Given the description of an element on the screen output the (x, y) to click on. 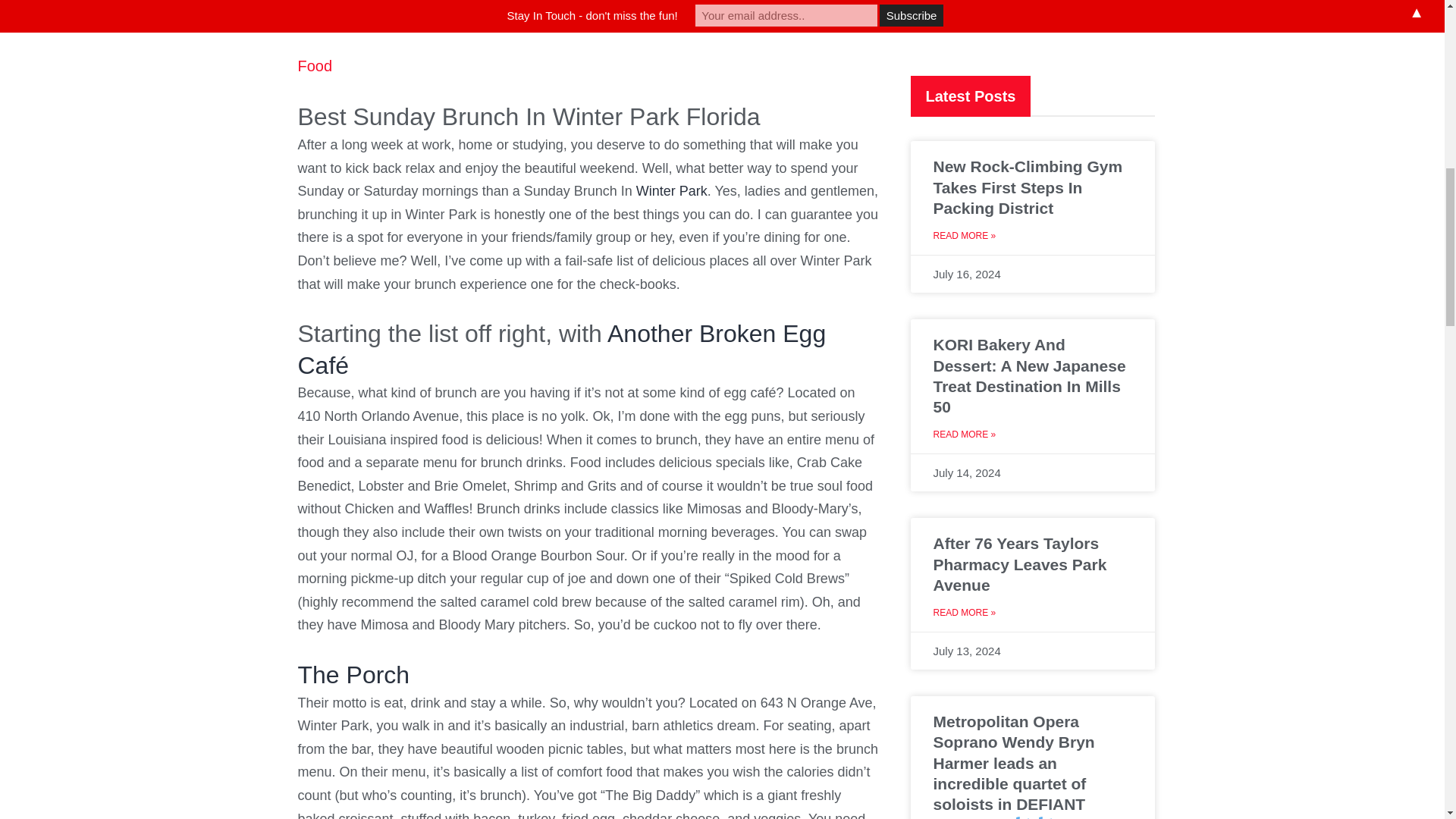
Food (314, 65)
